Given the description of an element on the screen output the (x, y) to click on. 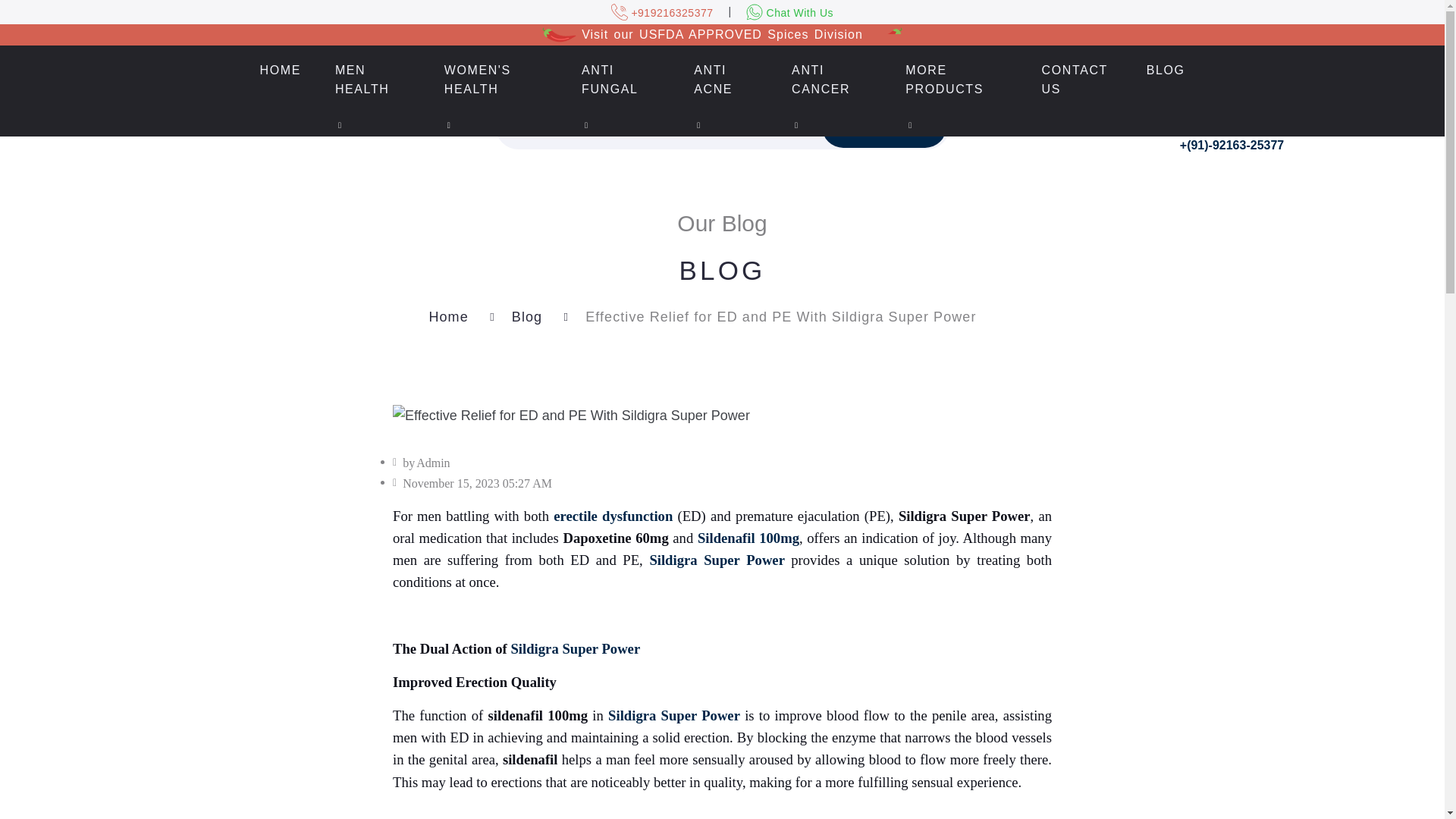
HOME (279, 70)
Chat With Us (788, 10)
Visit our USFDA APPROVED Spices Division (721, 33)
MEN HEALTH (372, 80)
